Given the description of an element on the screen output the (x, y) to click on. 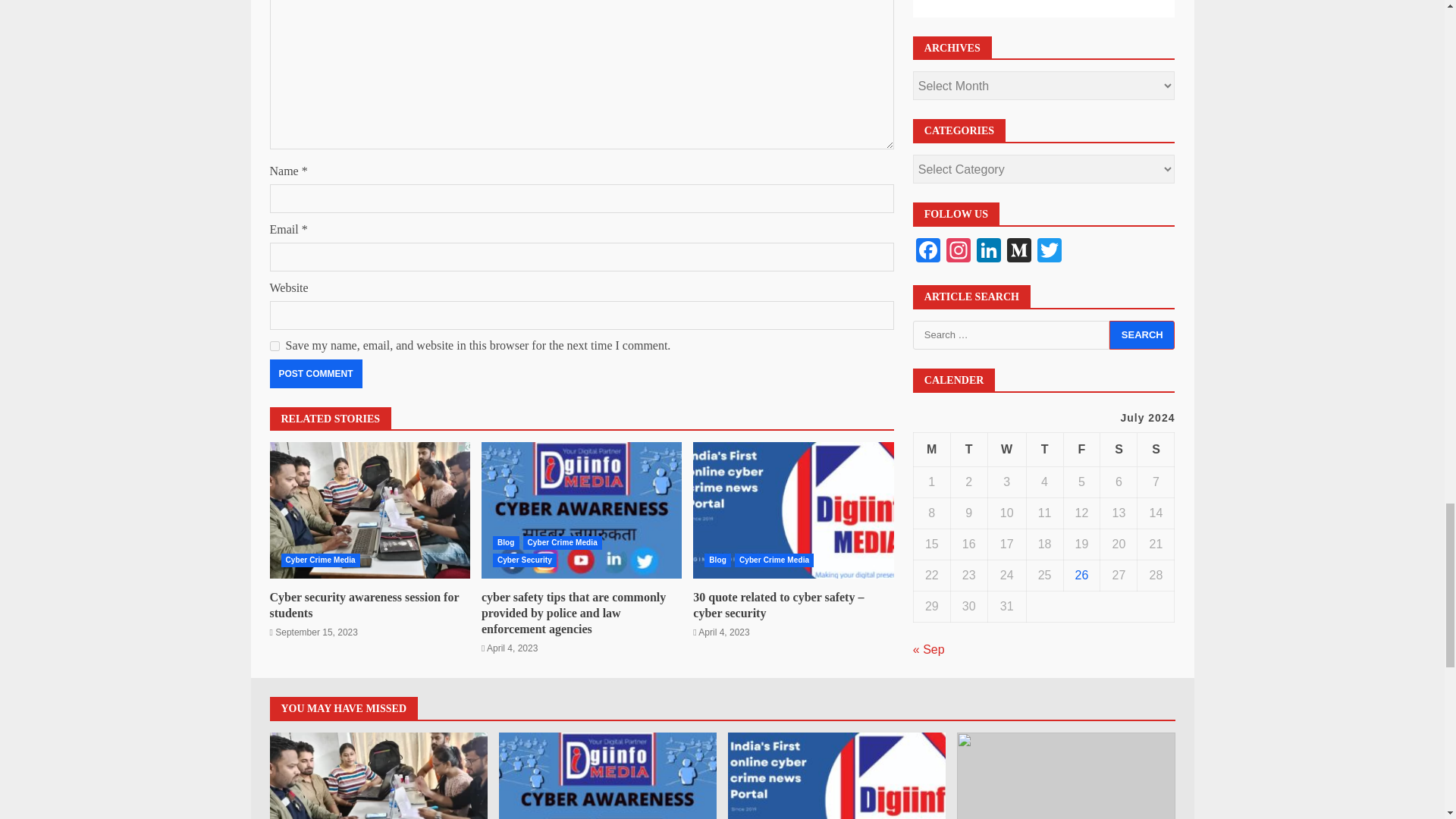
yes (274, 346)
Post Comment (315, 373)
